Given the description of an element on the screen output the (x, y) to click on. 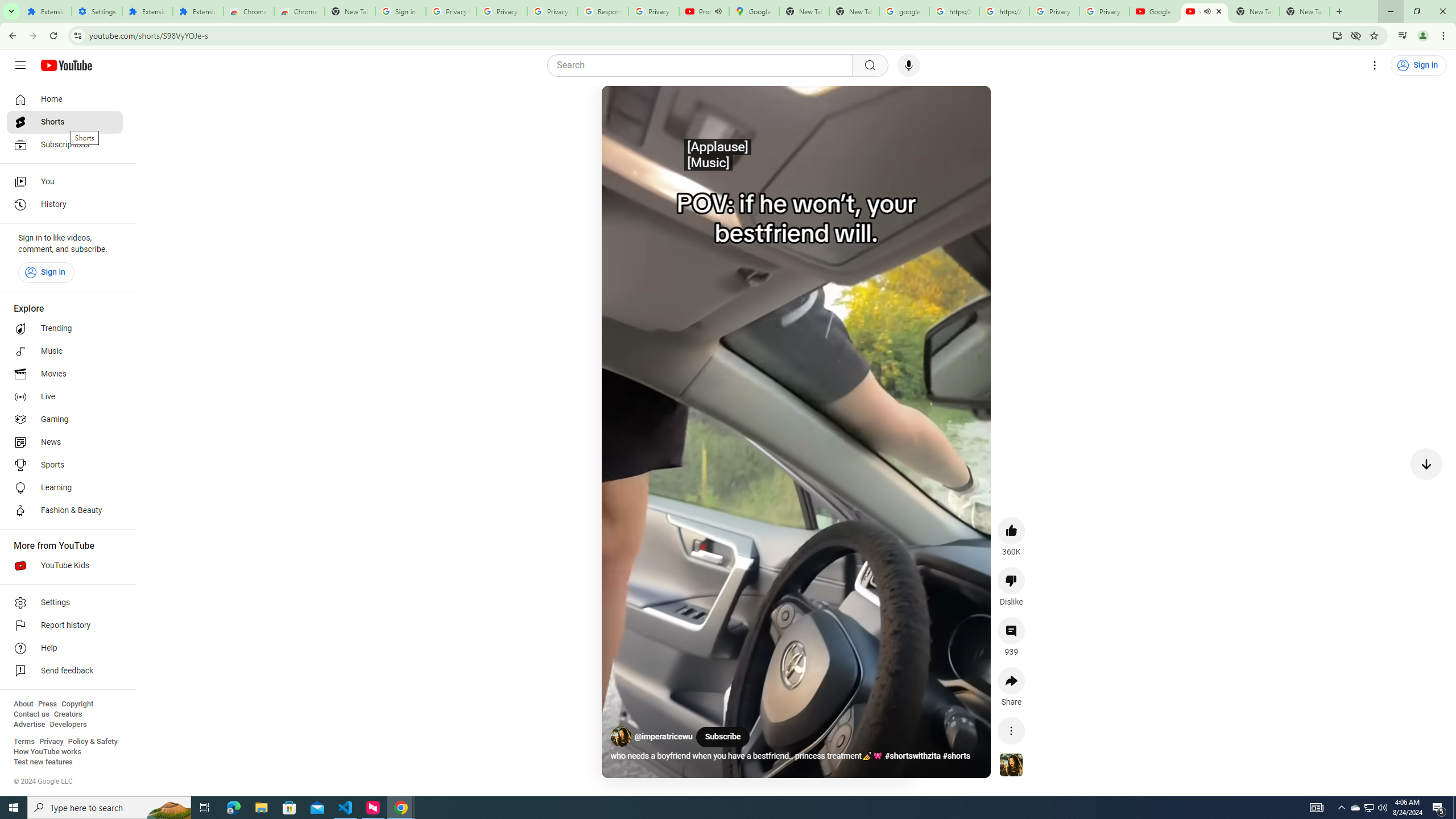
like this video along with 360K other people (1011, 530)
See more videos using this sound (1011, 765)
#shorts (956, 756)
About (23, 703)
Movies (64, 373)
@imperatricewu (664, 736)
Live (64, 396)
Google Maps (753, 11)
